Given the description of an element on the screen output the (x, y) to click on. 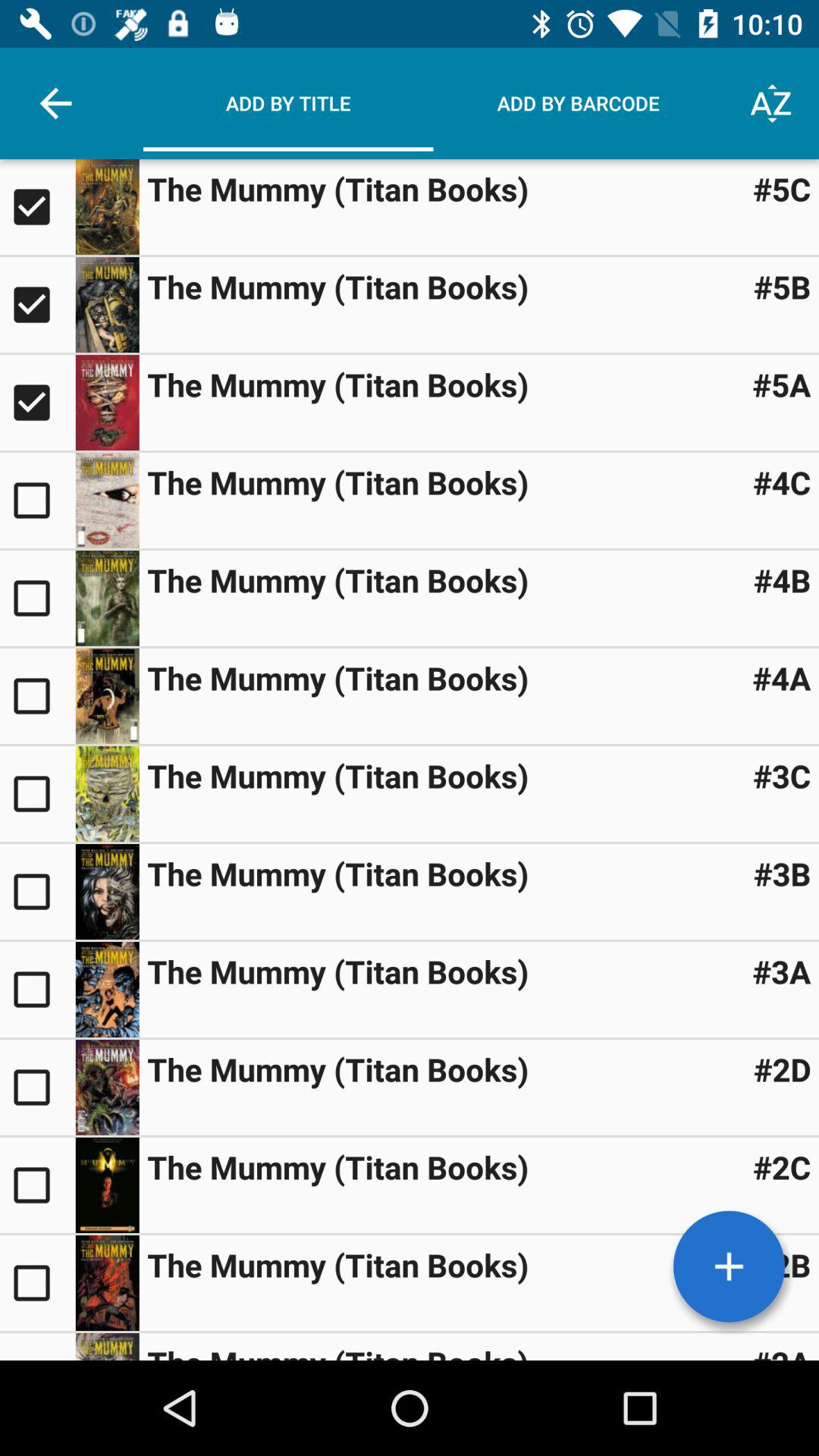
click on thumbnail (107, 1346)
